Given the description of an element on the screen output the (x, y) to click on. 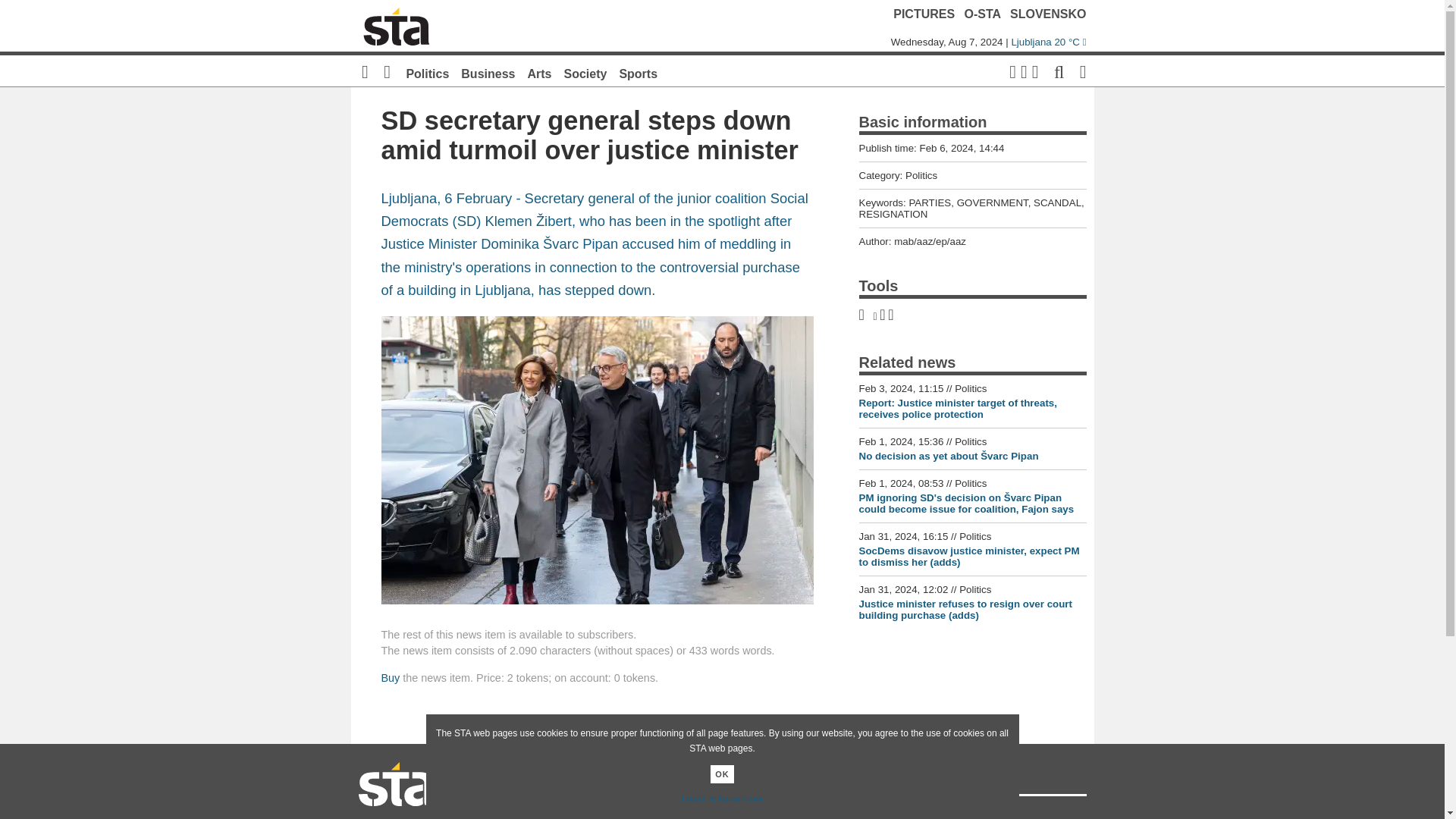
Buy (389, 677)
Politics (427, 73)
Society (585, 73)
PICTURES (924, 13)
Business (488, 73)
STApictures (676, 815)
Arts (539, 73)
STAschedule (767, 815)
STAnews (585, 815)
STAenglish (858, 815)
SLOVENSKO (1048, 13)
Sports (638, 73)
O-STA (982, 13)
